Given the description of an element on the screen output the (x, y) to click on. 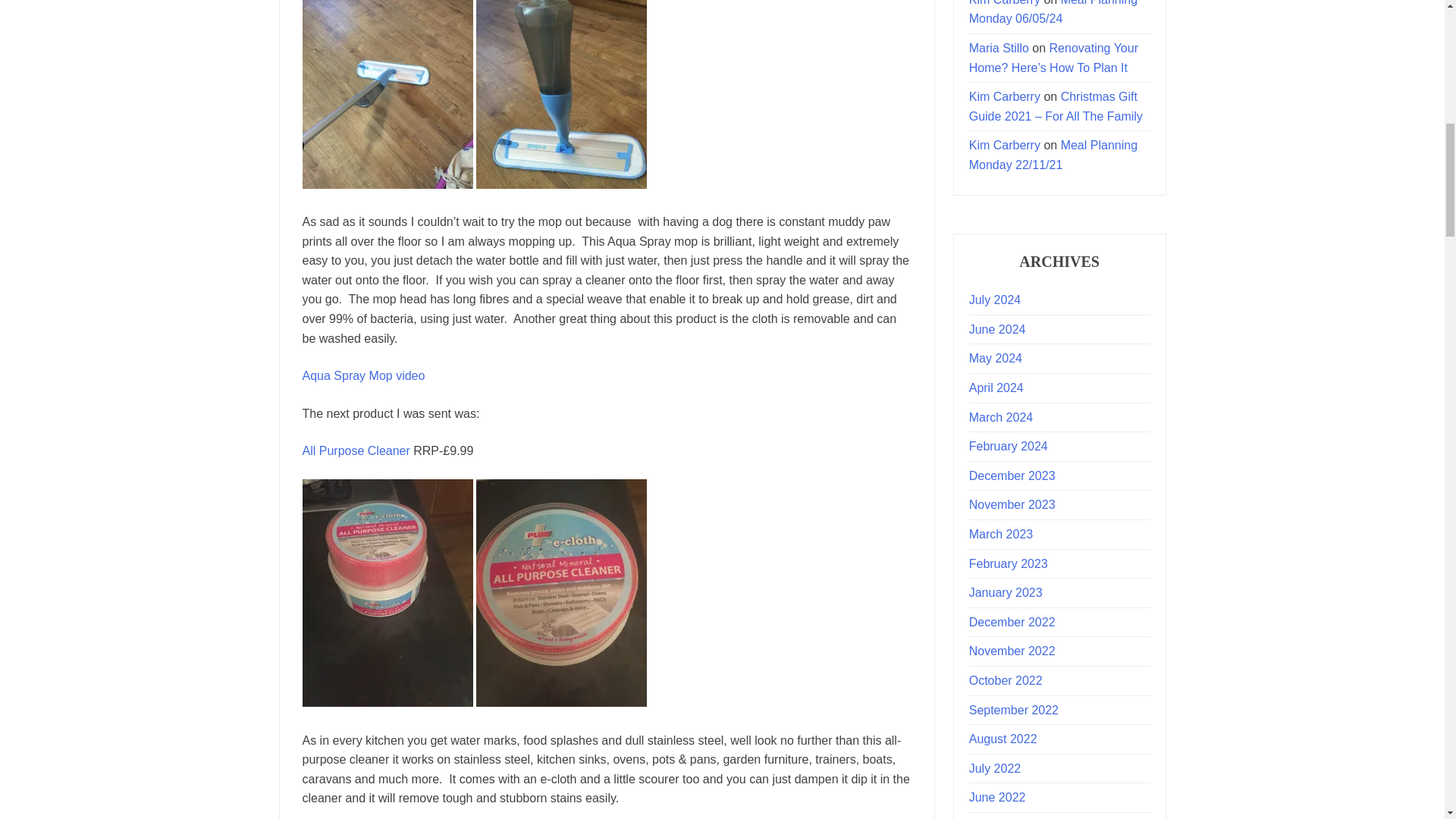
All Purpose Cleaner (357, 450)
Aqua Spray Mop video (363, 375)
